Given the description of an element on the screen output the (x, y) to click on. 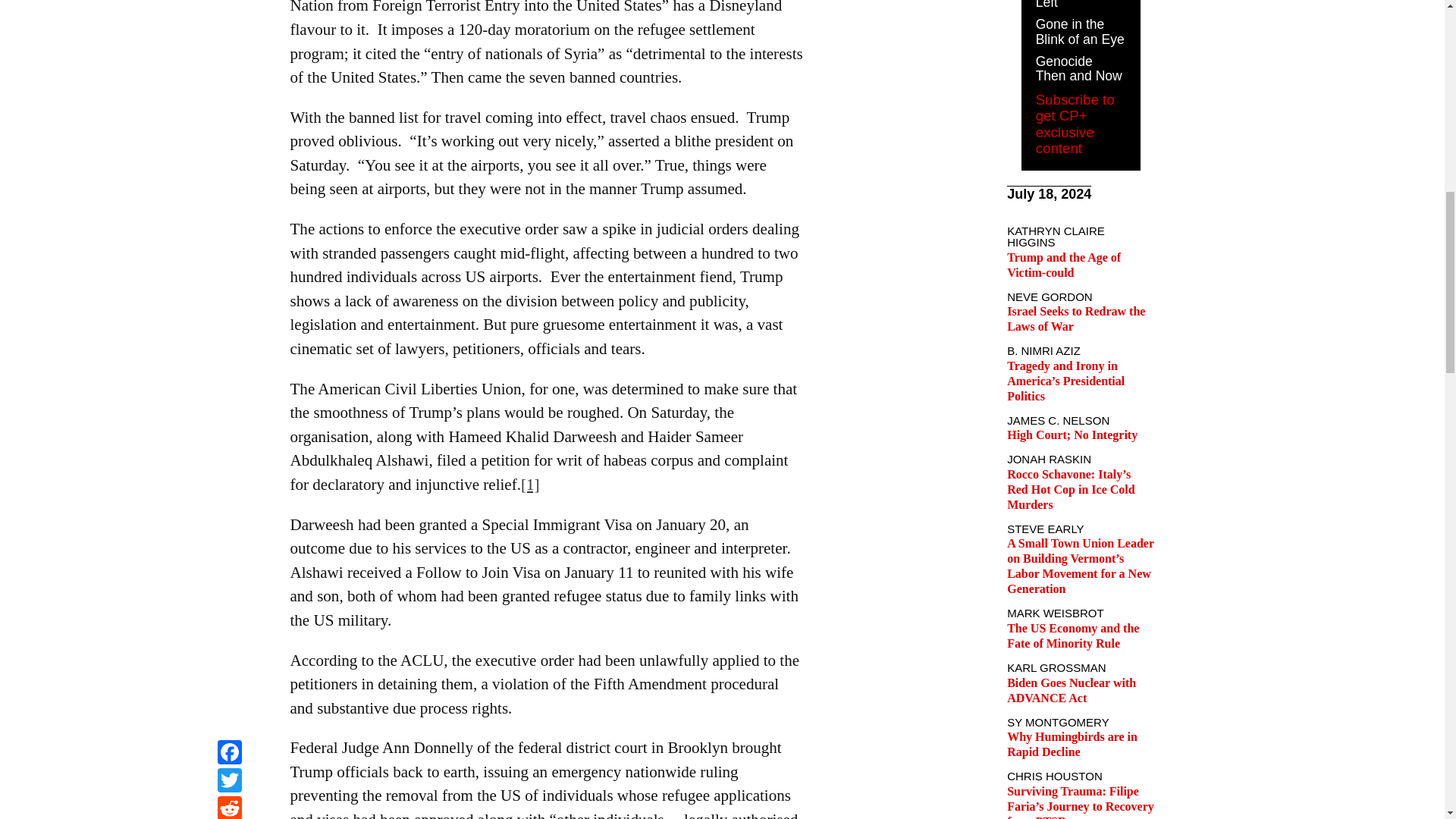
Reddit (229, 2)
Reddit (229, 2)
Email (229, 18)
Email (229, 18)
